Given the description of an element on the screen output the (x, y) to click on. 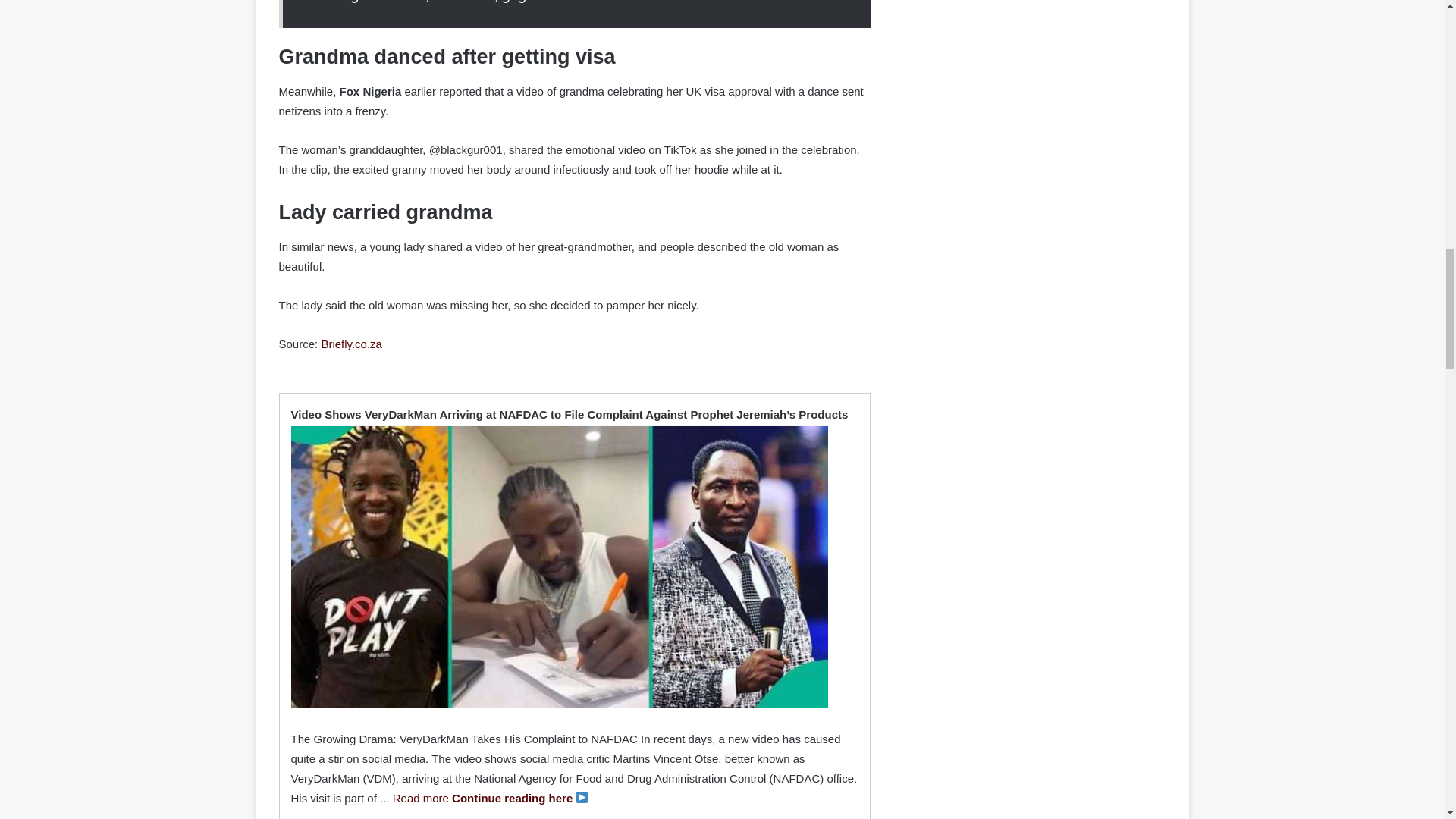
Read more (420, 797)
Continue reading here (518, 797)
Briefly.co.za (350, 343)
